Given the description of an element on the screen output the (x, y) to click on. 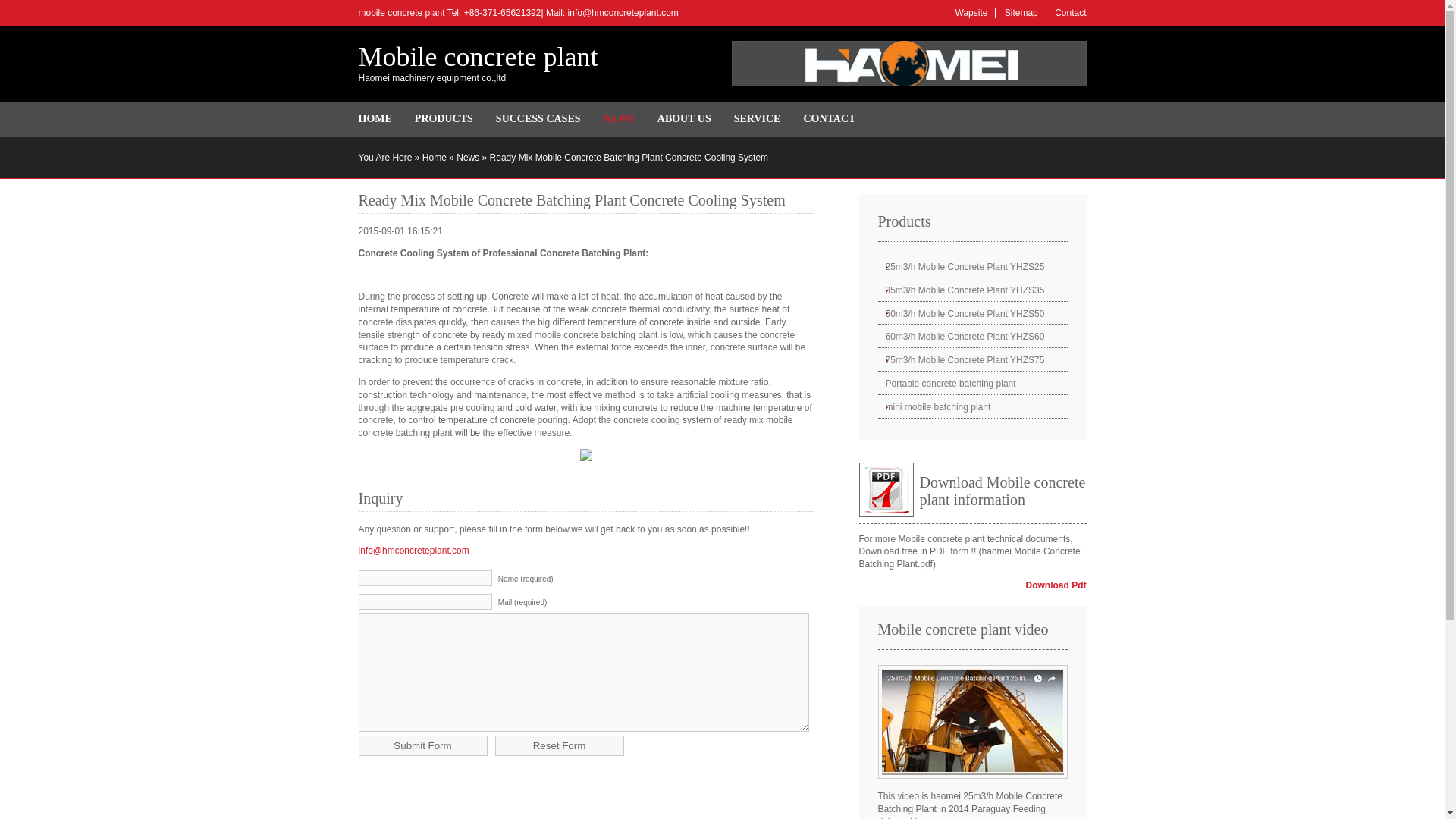
Portable concrete batching plant (972, 383)
PRODUCTS (443, 119)
Reset Form (559, 745)
Sitemap (1021, 12)
Wapsite (971, 12)
Contact (1070, 12)
SERVICE (756, 119)
Download Pdf (1055, 584)
YHZS50 Mobile Concrete Plant (972, 314)
Home (434, 157)
